Given the description of an element on the screen output the (x, y) to click on. 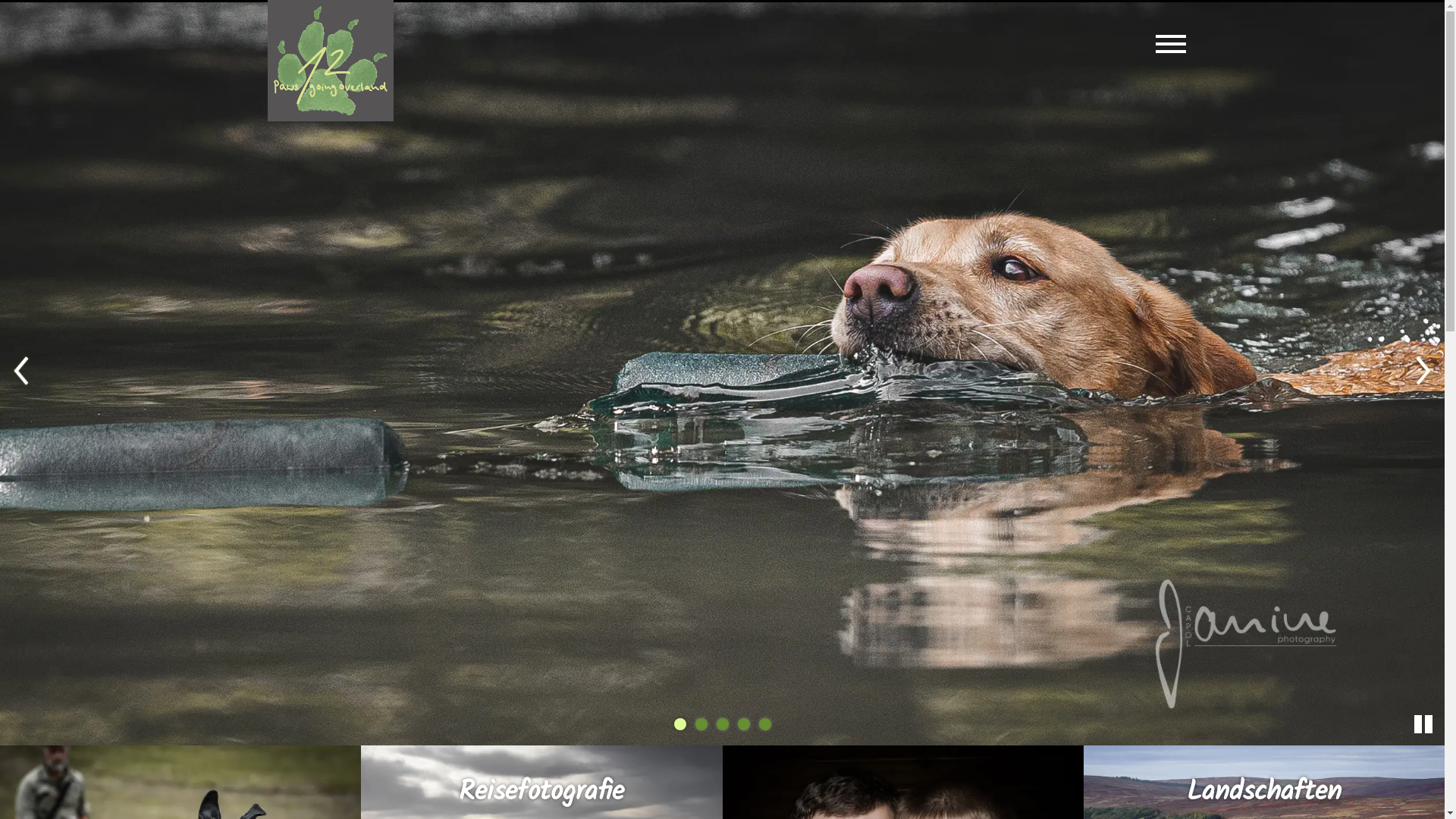
Zur Startseite Element type: hover (329, 60)
